Given the description of an element on the screen output the (x, y) to click on. 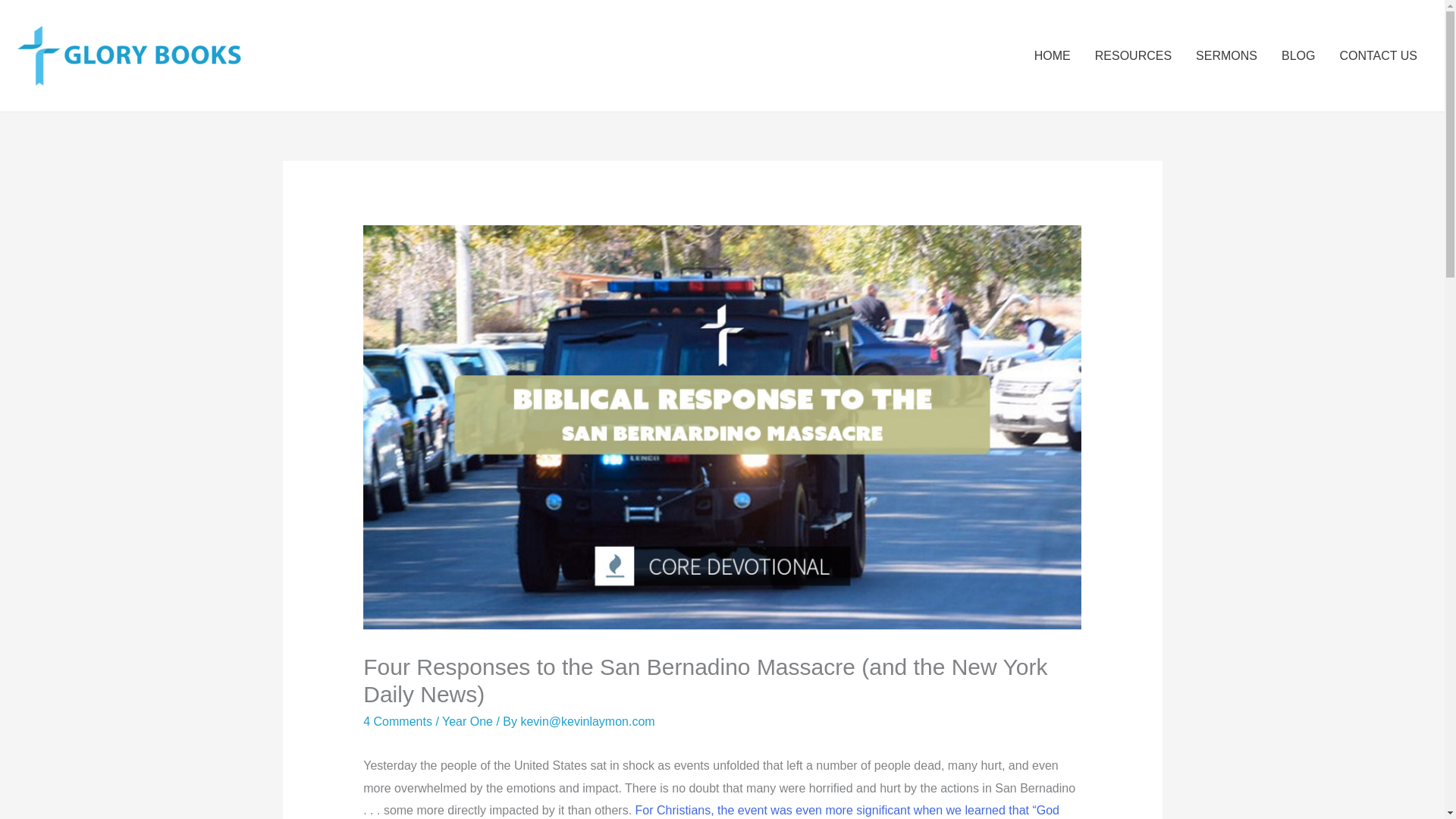
SERMONS (1226, 55)
Year One (467, 721)
RESOURCES (1133, 55)
4 Comments (397, 721)
HOME (1052, 55)
CONTACT US (1377, 55)
BLOG (1297, 55)
